Given the description of an element on the screen output the (x, y) to click on. 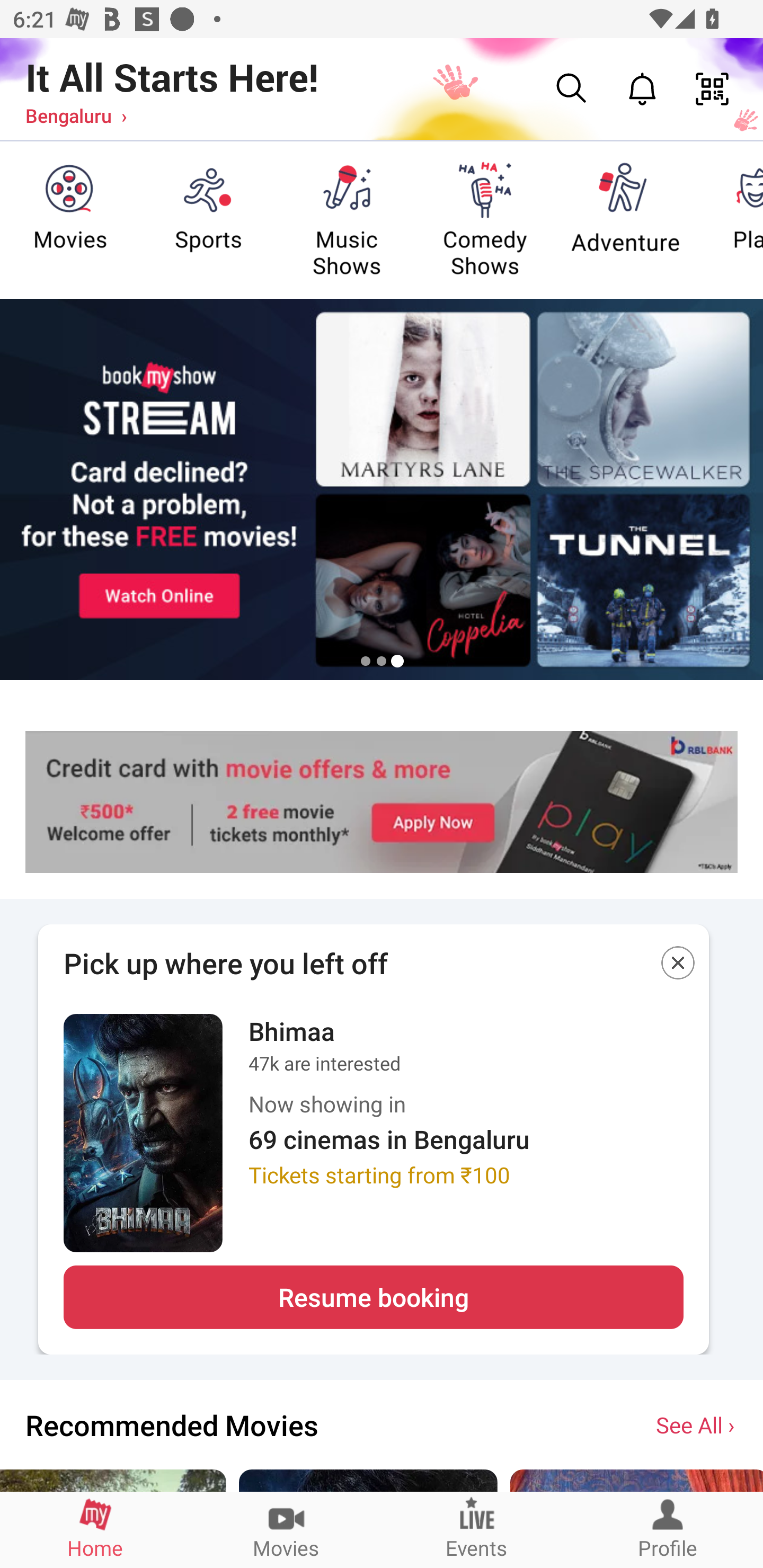
Bengaluru  › (76, 114)
  (678, 966)
Resume booking (373, 1297)
See All › (696, 1424)
Home (95, 1529)
Movies (285, 1529)
Events (476, 1529)
Profile (667, 1529)
